Given the description of an element on the screen output the (x, y) to click on. 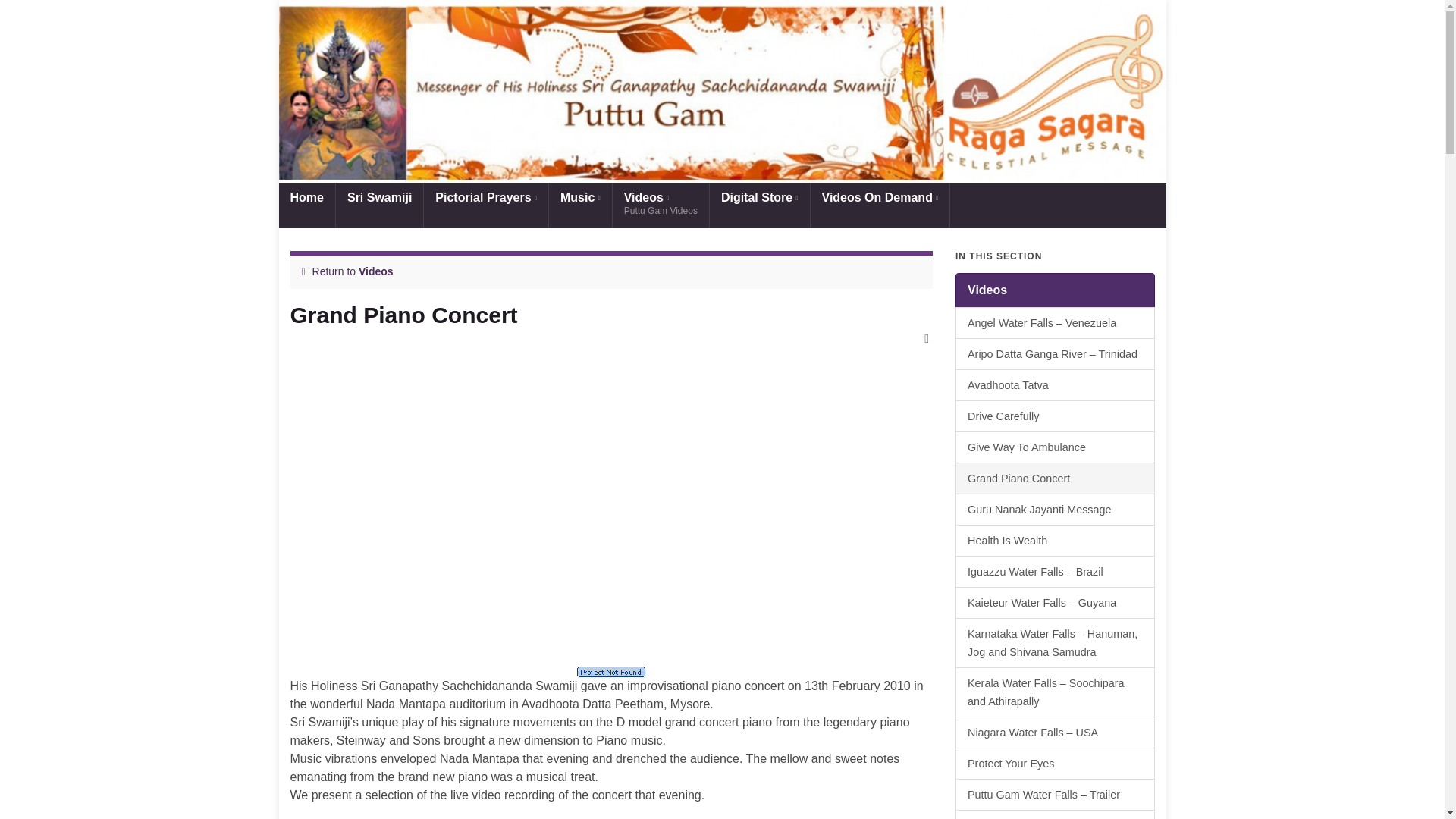
Home (306, 205)
Pictorial Prayers (485, 205)
Videos (375, 271)
counter for wordpress (611, 671)
Videos On Demand (660, 205)
Sri Swamiji (879, 205)
Digital Store (379, 205)
Music (759, 205)
